Given the description of an element on the screen output the (x, y) to click on. 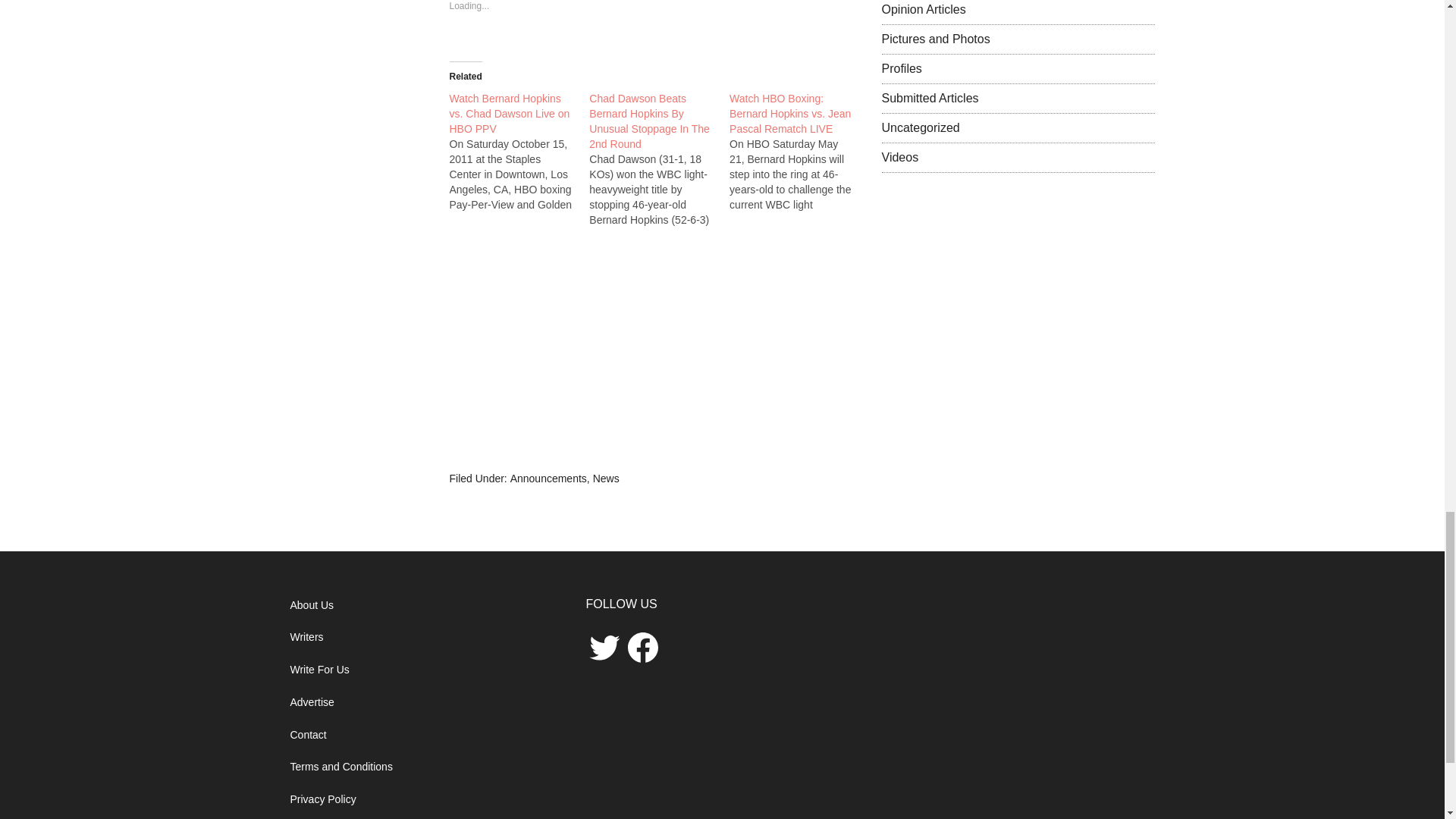
News (606, 478)
Watch Bernard Hopkins vs. Chad Dawson Live on HBO PPV (508, 113)
Watch Bernard Hopkins vs. Chad Dawson Live on HBO PPV (508, 113)
Watch Bernard Hopkins vs. Chad Dawson Live on HBO PPV (518, 151)
Announcements (548, 478)
